Given the description of an element on the screen output the (x, y) to click on. 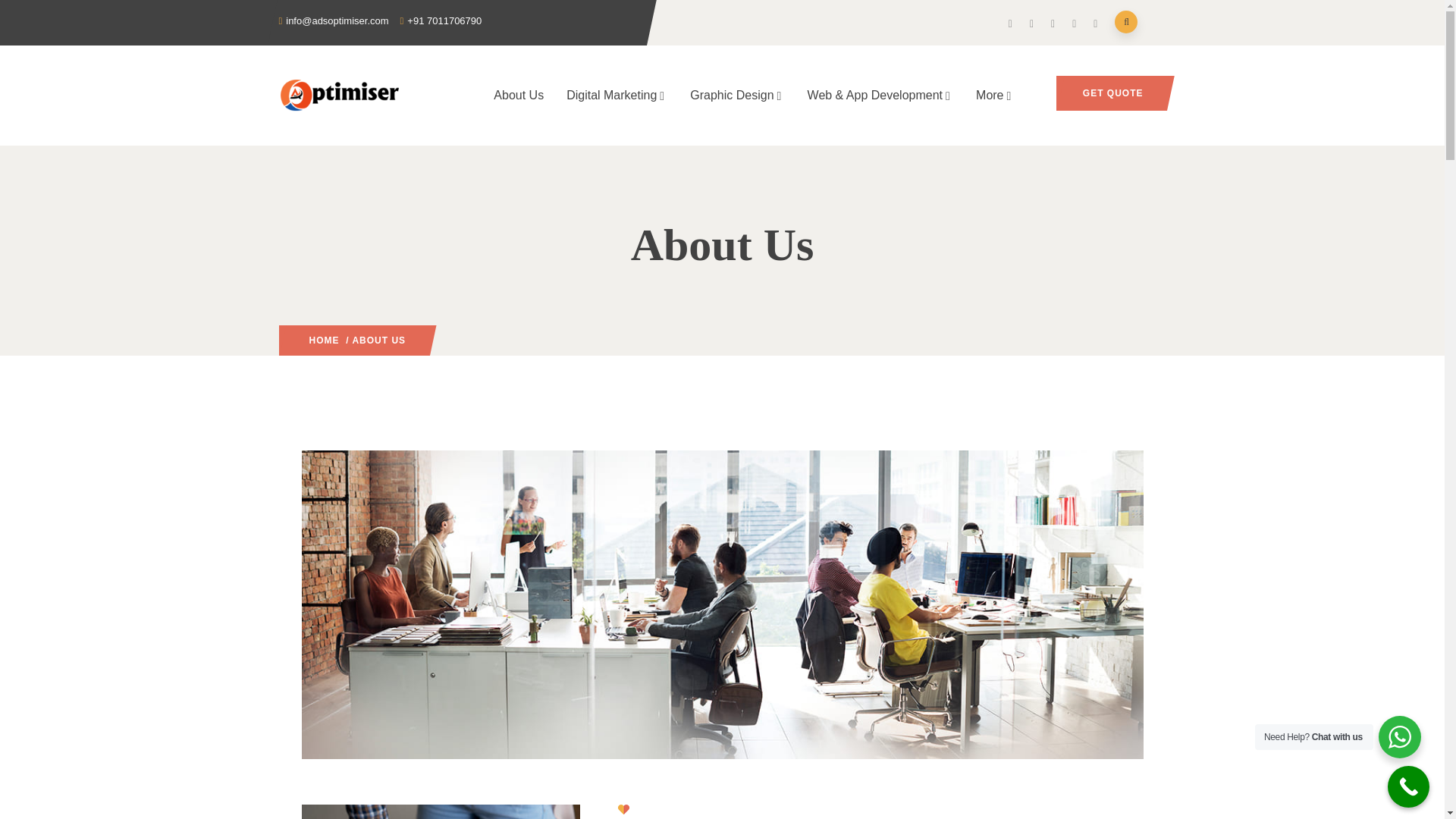
Digital Marketing (616, 95)
About Us (517, 95)
Graphic Design (736, 95)
